Given the description of an element on the screen output the (x, y) to click on. 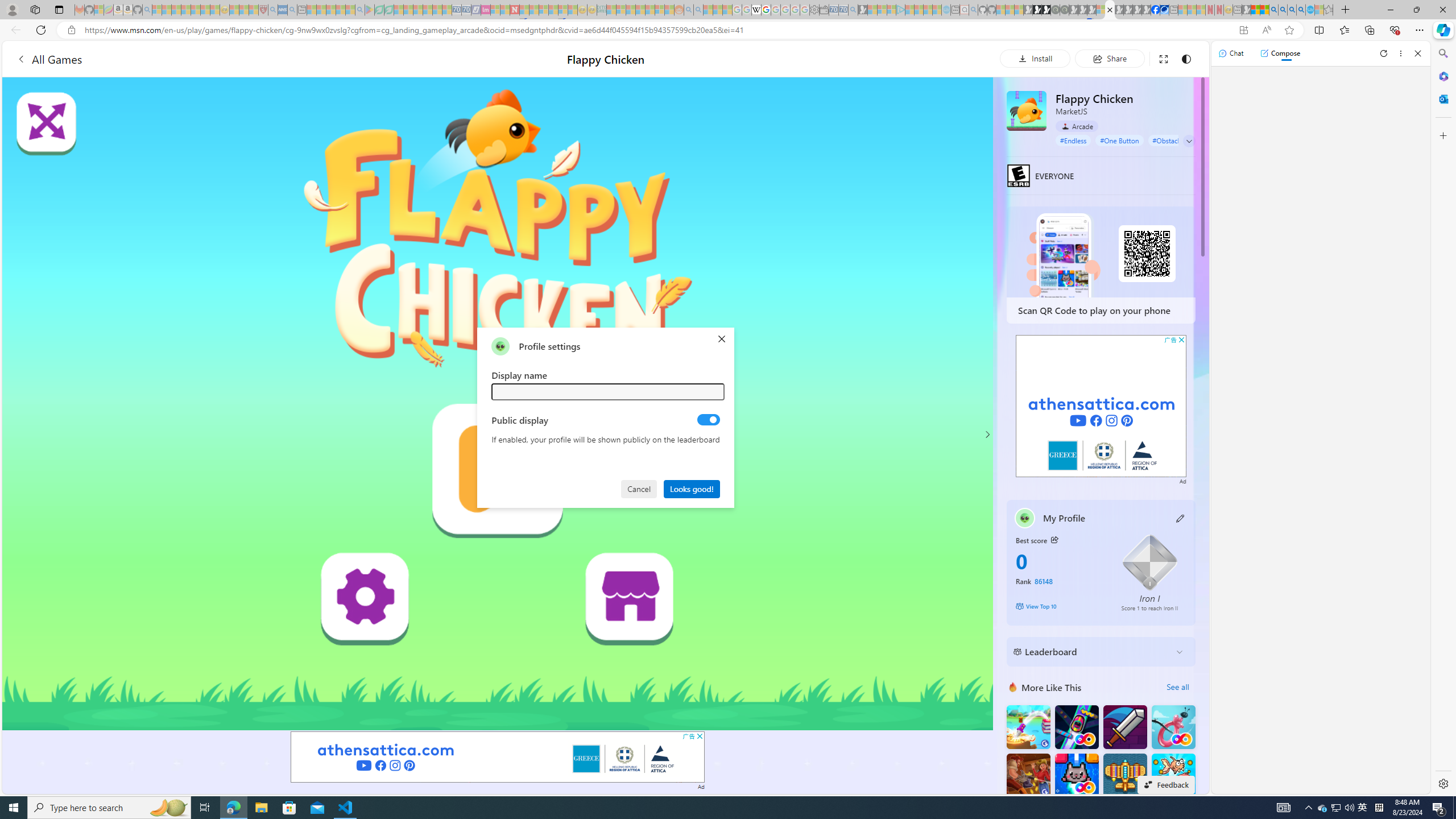
Compose (1279, 52)
Atlantic Sky Hunter (1124, 775)
App available. Install Flappy Chicken (1243, 29)
Arcade (1076, 126)
Saloon Robbery (1028, 775)
